Given the description of an element on the screen output the (x, y) to click on. 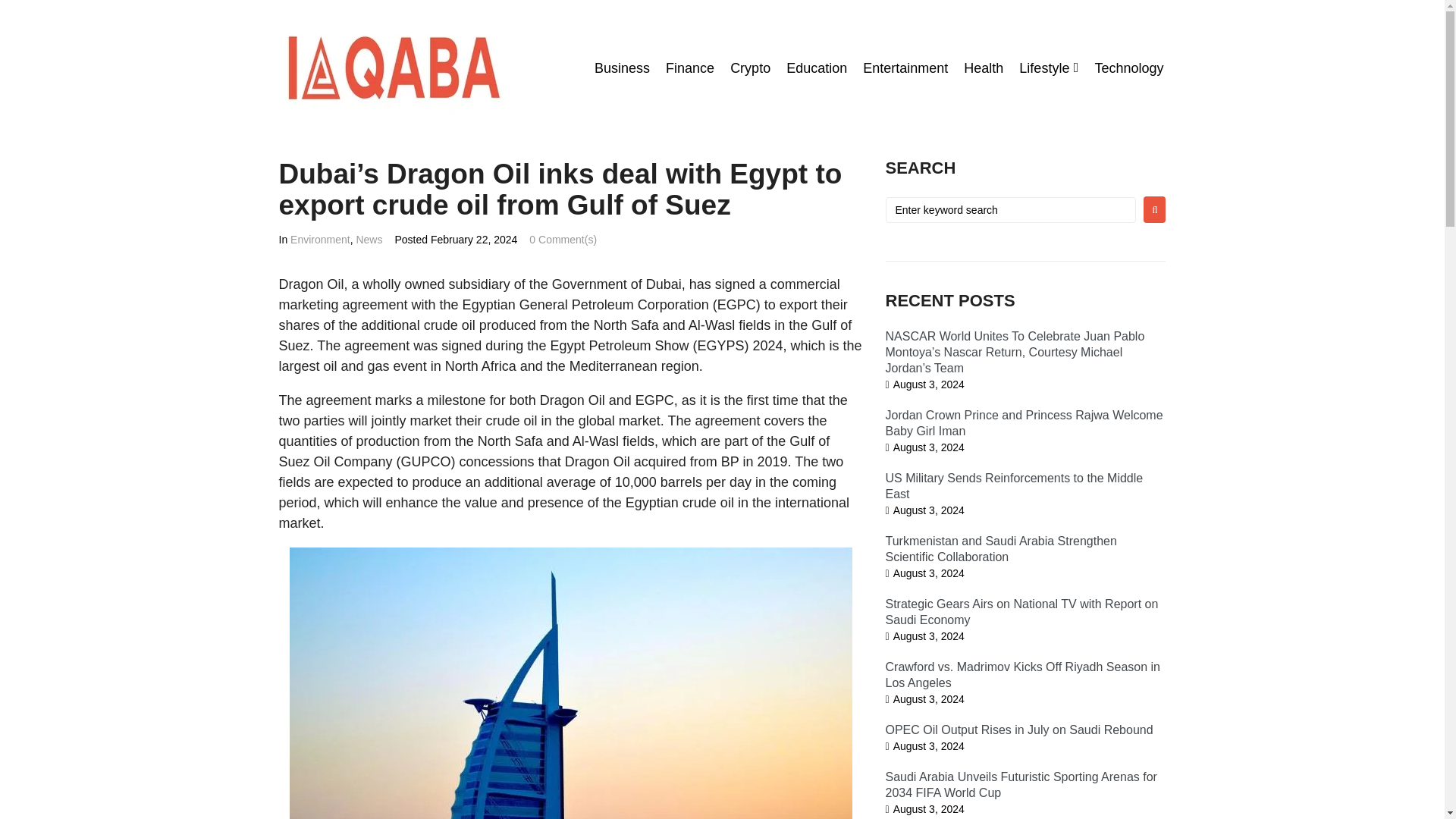
Crawford vs. Madrimov Kicks Off Riyadh Season in Los Angeles (1022, 674)
Business (621, 68)
Lifestyle (1043, 68)
Environment (319, 239)
US Military Sends Reinforcements to the Middle East (1013, 485)
Health (983, 68)
News (368, 239)
Education (816, 68)
Finance (689, 68)
Crypto (750, 68)
Entertainment (905, 68)
